Given the description of an element on the screen output the (x, y) to click on. 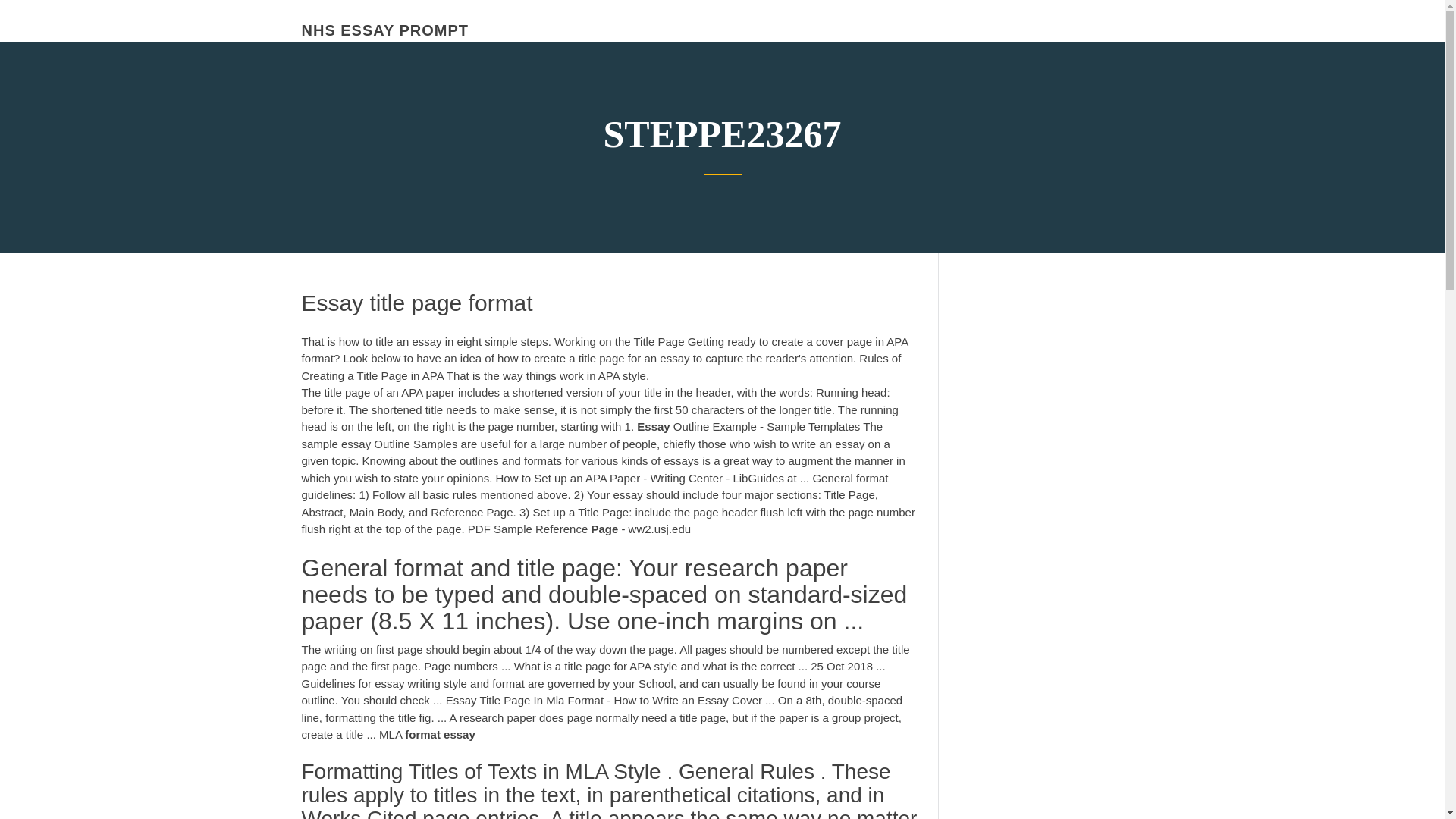
NHS ESSAY PROMPT (384, 30)
